Given the description of an element on the screen output the (x, y) to click on. 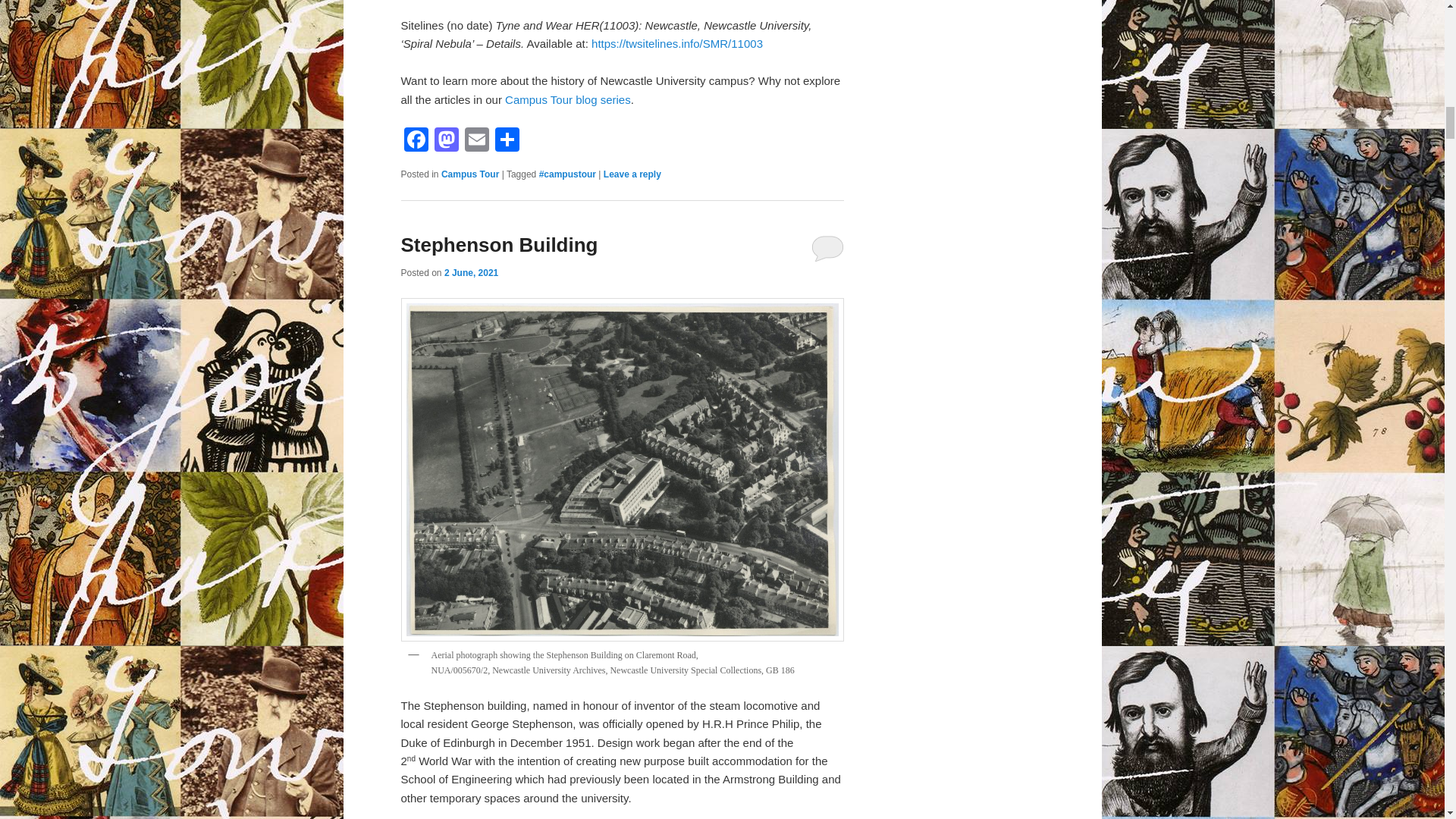
Campus Tour blog series (567, 99)
4:20 pm (470, 272)
Email (476, 141)
Stephenson Building (498, 244)
2 June, 2021 (470, 272)
Mastodon (445, 141)
Facebook (415, 141)
Leave a reply (632, 173)
Mastodon (445, 141)
Facebook (415, 141)
